Given the description of an element on the screen output the (x, y) to click on. 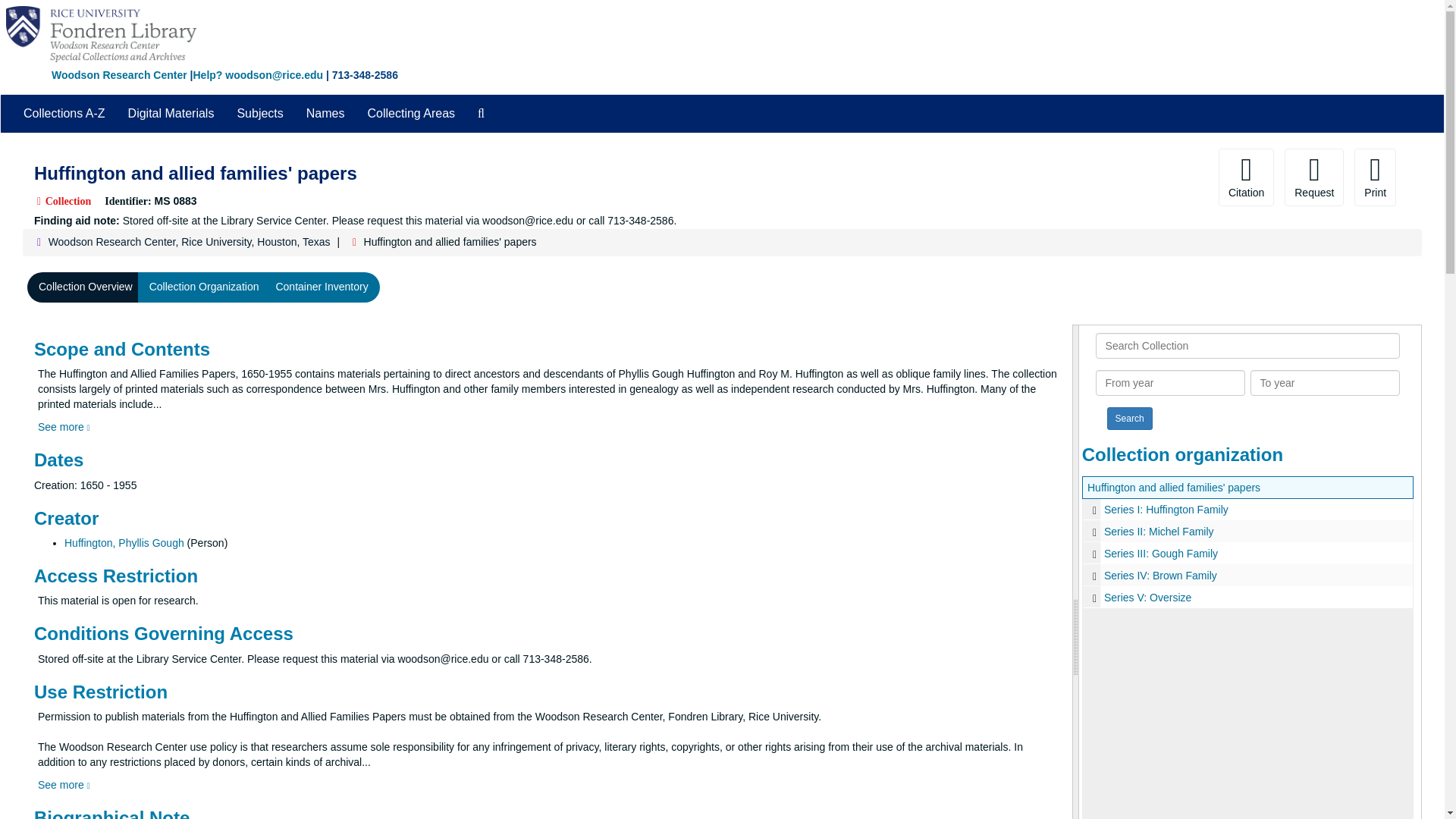
Series III: Gough Family (1247, 553)
Collections A-Z (63, 113)
Series V: Oversize (1247, 597)
Collection Organization (204, 286)
Series II: Michel Family (1247, 531)
Digital Materials (170, 113)
Huffington, Phyllis Gough (124, 542)
Collection Overview (85, 286)
Citation (1246, 177)
Request (1313, 177)
